Given the description of an element on the screen output the (x, y) to click on. 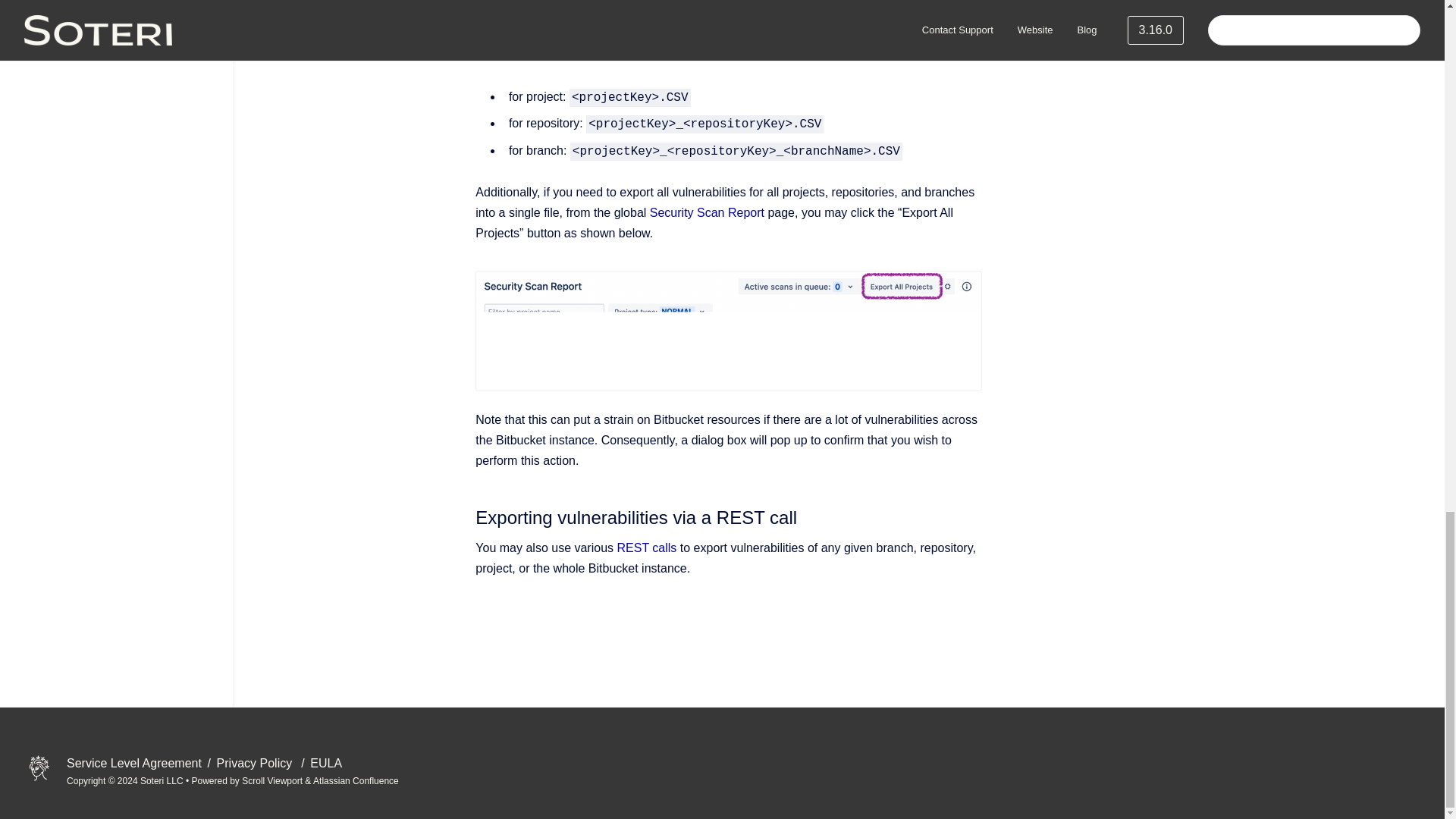
Privacy Policy  (257, 762)
Service Level Agreement (135, 762)
EULA (326, 762)
Scroll Viewport (272, 780)
Atlassian Confluence (355, 780)
REST calls (647, 547)
Security Scan Report (706, 212)
